Given the description of an element on the screen output the (x, y) to click on. 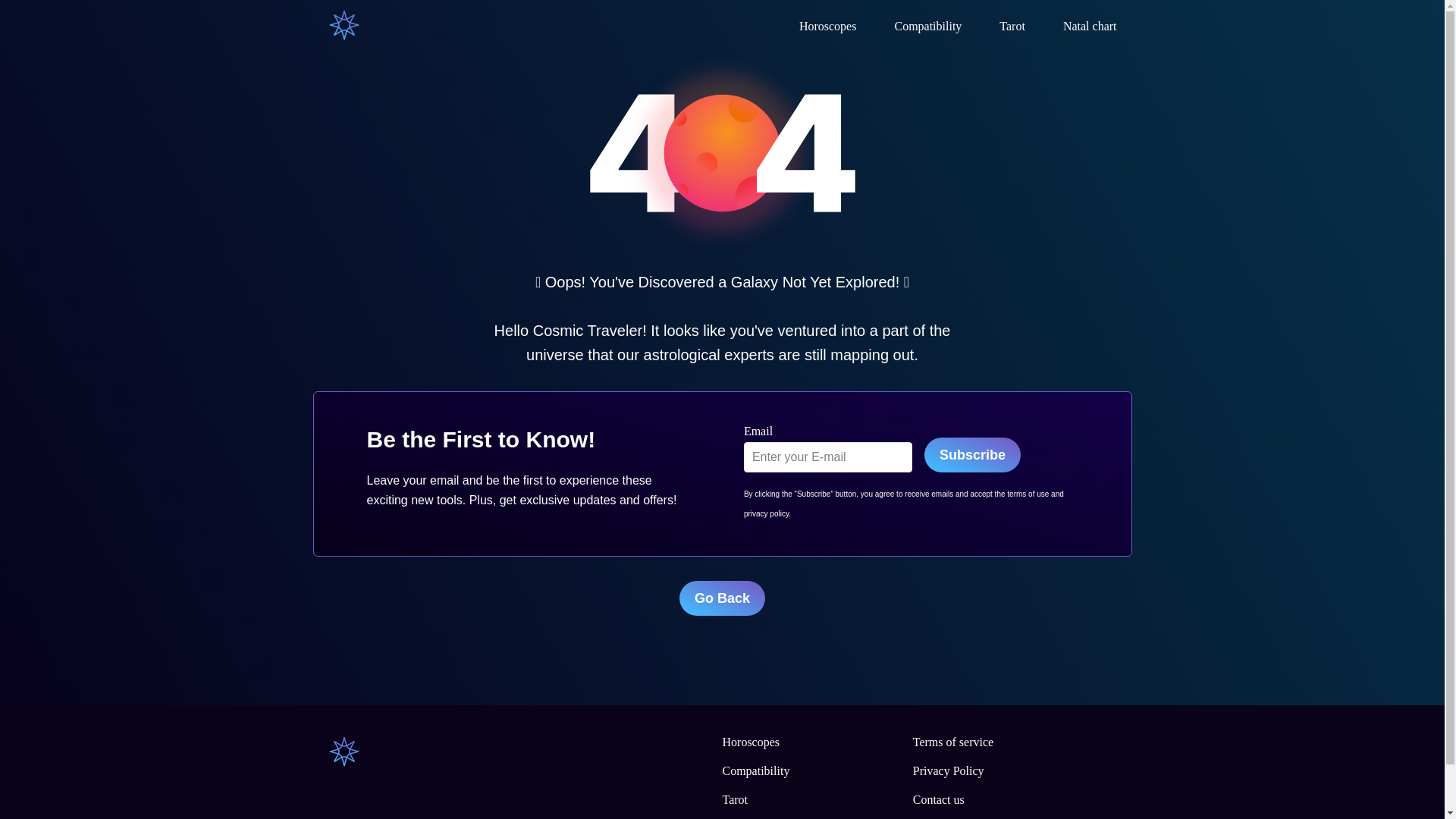
Go Back (722, 597)
Terms of service (952, 741)
Tarot (735, 799)
Subscribe (972, 454)
Compatibility (755, 770)
Natal chart (1089, 26)
Contact us (937, 799)
Horoscopes (828, 26)
Privacy Policy (948, 770)
Tarot (1011, 26)
